Given the description of an element on the screen output the (x, y) to click on. 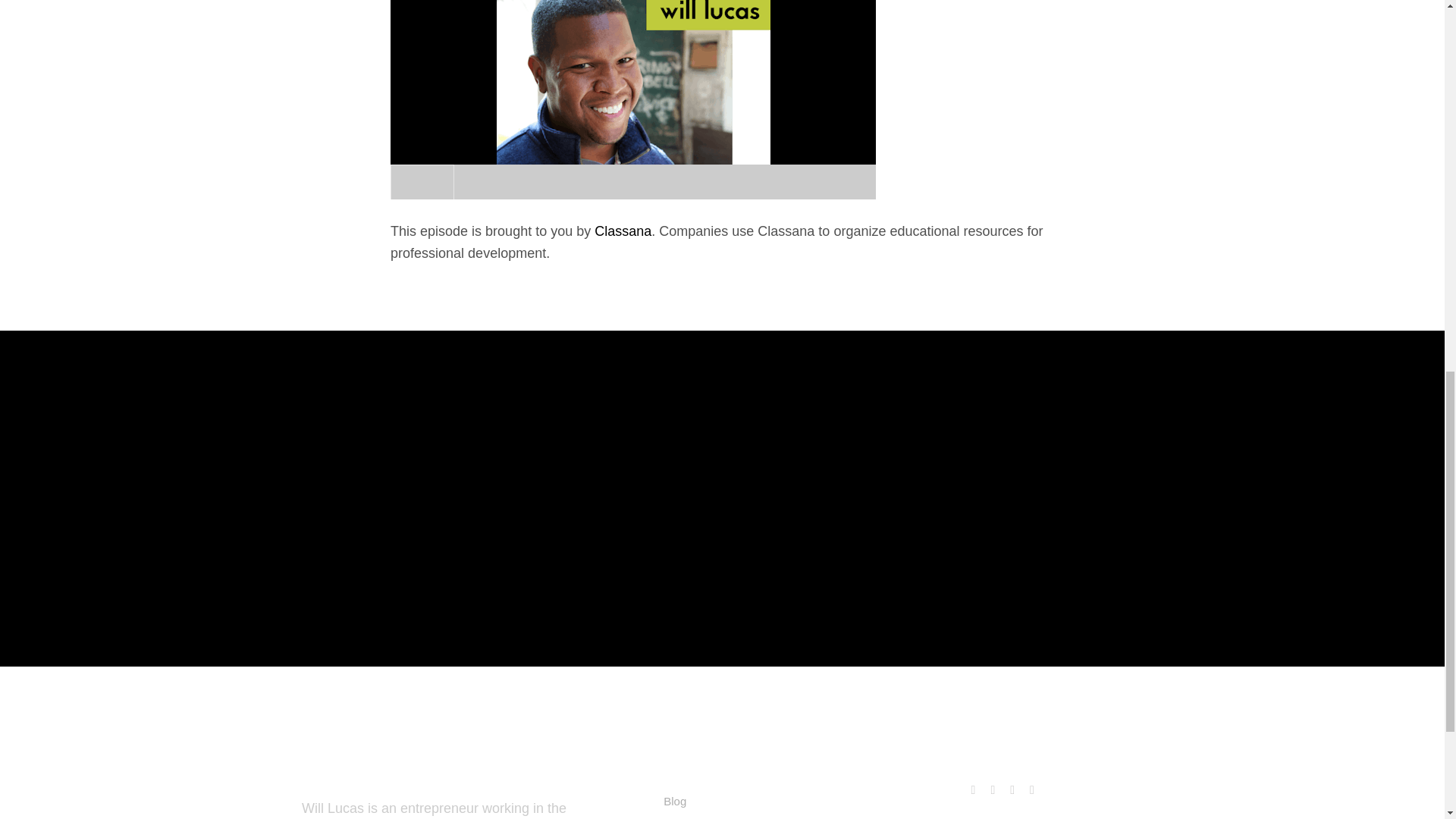
Blog (674, 800)
WILL LUCAS LOGO (135, 785)
Classana (622, 231)
